Given the description of an element on the screen output the (x, y) to click on. 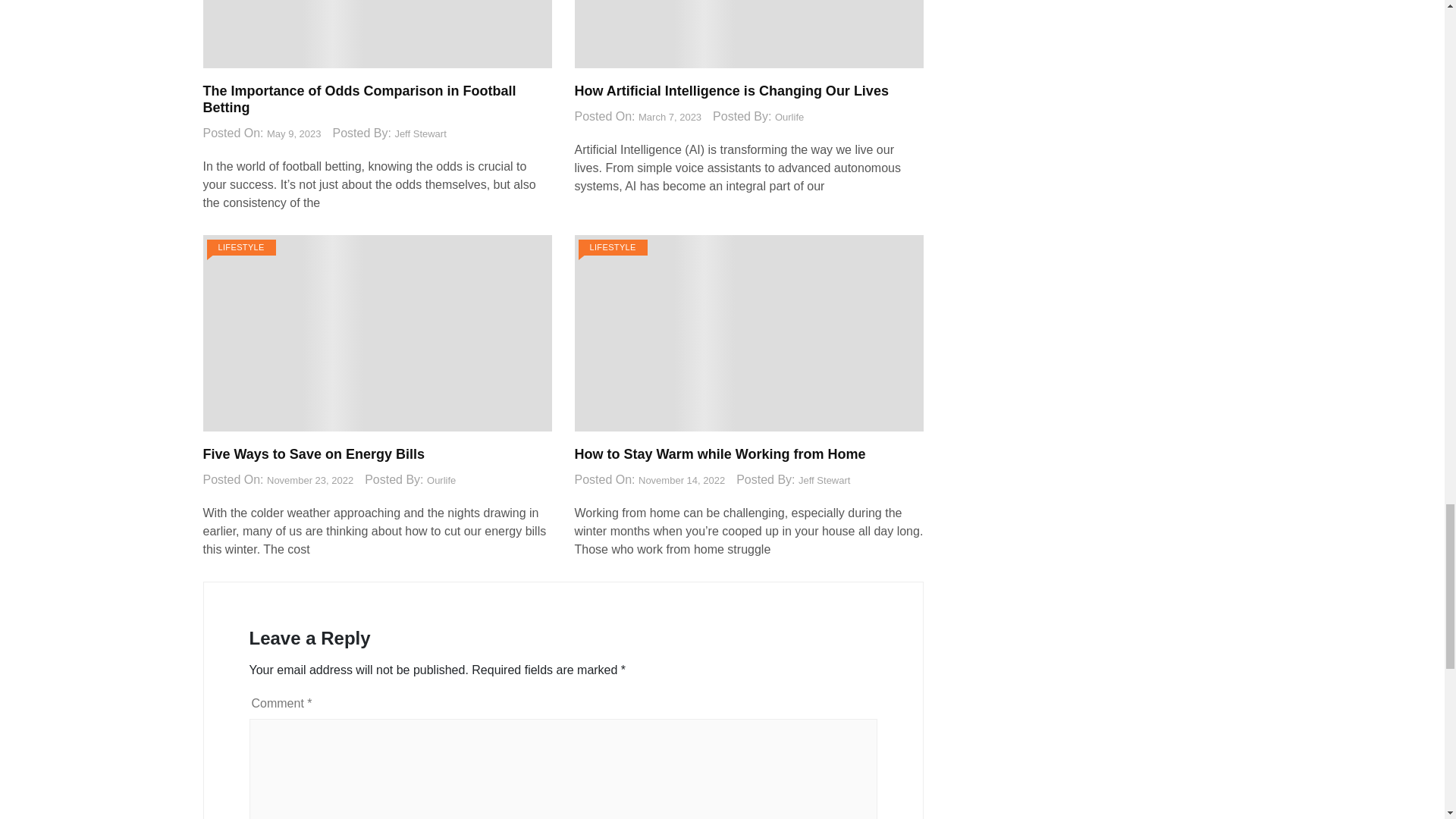
Five Ways to Save on Energy Bills (314, 453)
How to Stay Warm while Working from Home (720, 453)
LIFESTYLE (240, 247)
LIFESTYLE (612, 247)
March 7, 2023 (670, 117)
Jeff Stewart (419, 133)
The Importance of Odds Comparison in Football Betting (359, 99)
May 9, 2023 (293, 133)
Ourlife (440, 480)
November 23, 2022 (309, 480)
Ourlife (788, 117)
How Artificial Intelligence is Changing Our Lives (731, 90)
